Given the description of an element on the screen output the (x, y) to click on. 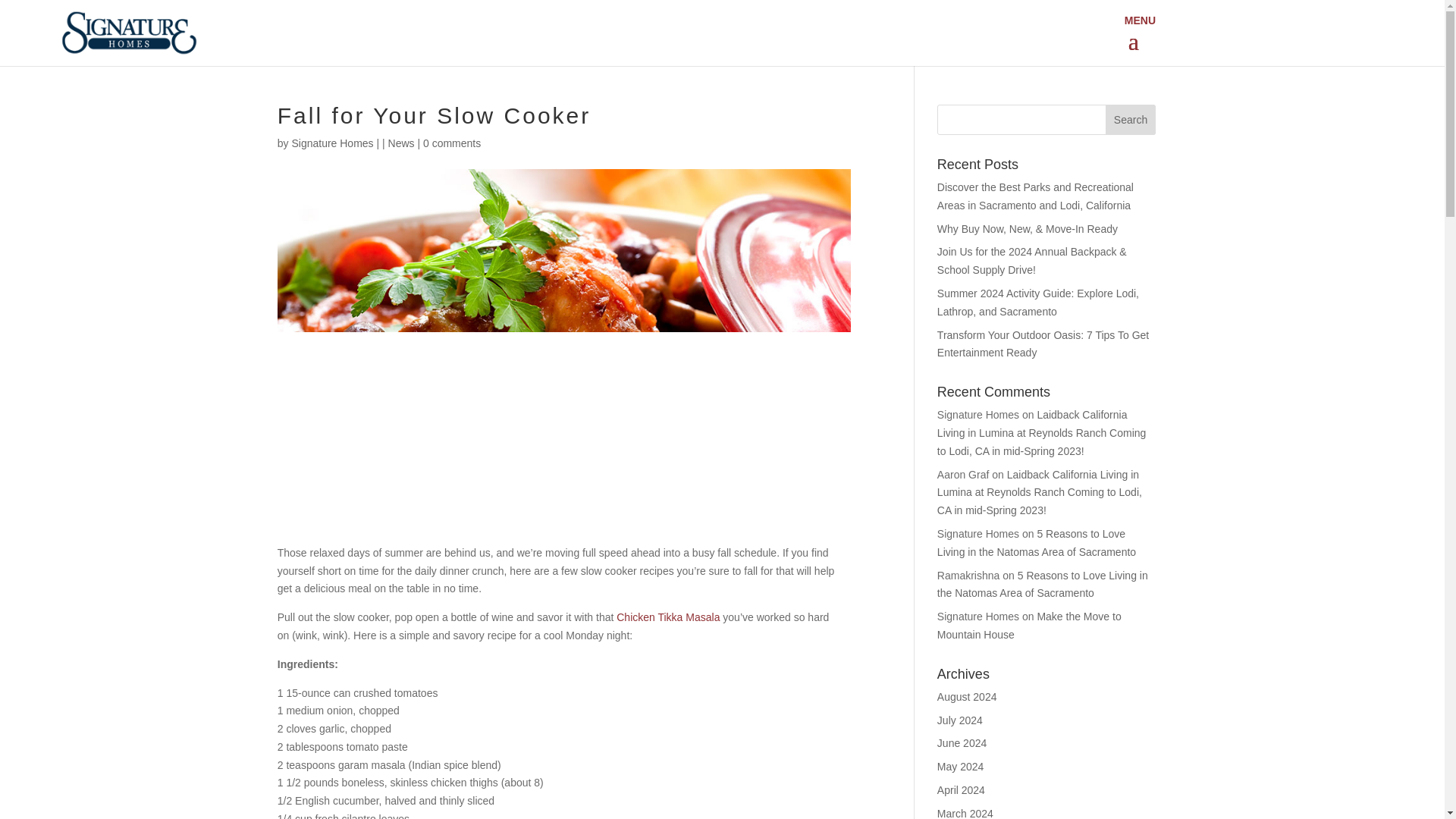
Search (1130, 119)
Posts by Signature Homes (331, 143)
5 Reasons to Love Living in the Natomas Area of Sacramento (1042, 584)
Search (1130, 119)
Make the Move to Mountain House (1029, 625)
Signature Homes (331, 143)
